Given the description of an element on the screen output the (x, y) to click on. 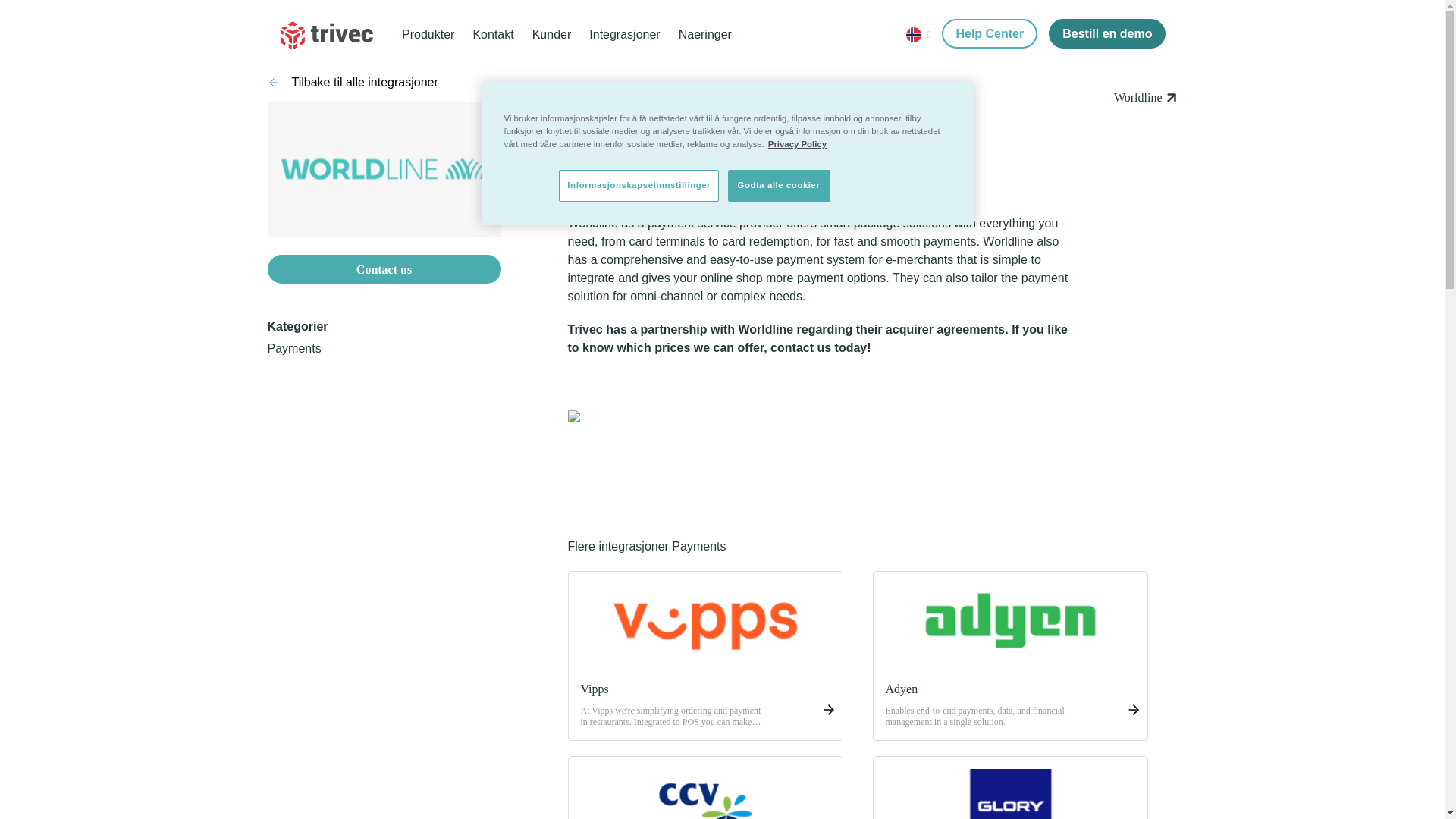
Bestill en demo (1107, 33)
Kunder (552, 34)
Kontakt (492, 34)
Produkter (427, 34)
Help Center (989, 33)
Integrasjoner (624, 34)
Naeringer (705, 34)
